Given the description of an element on the screen output the (x, y) to click on. 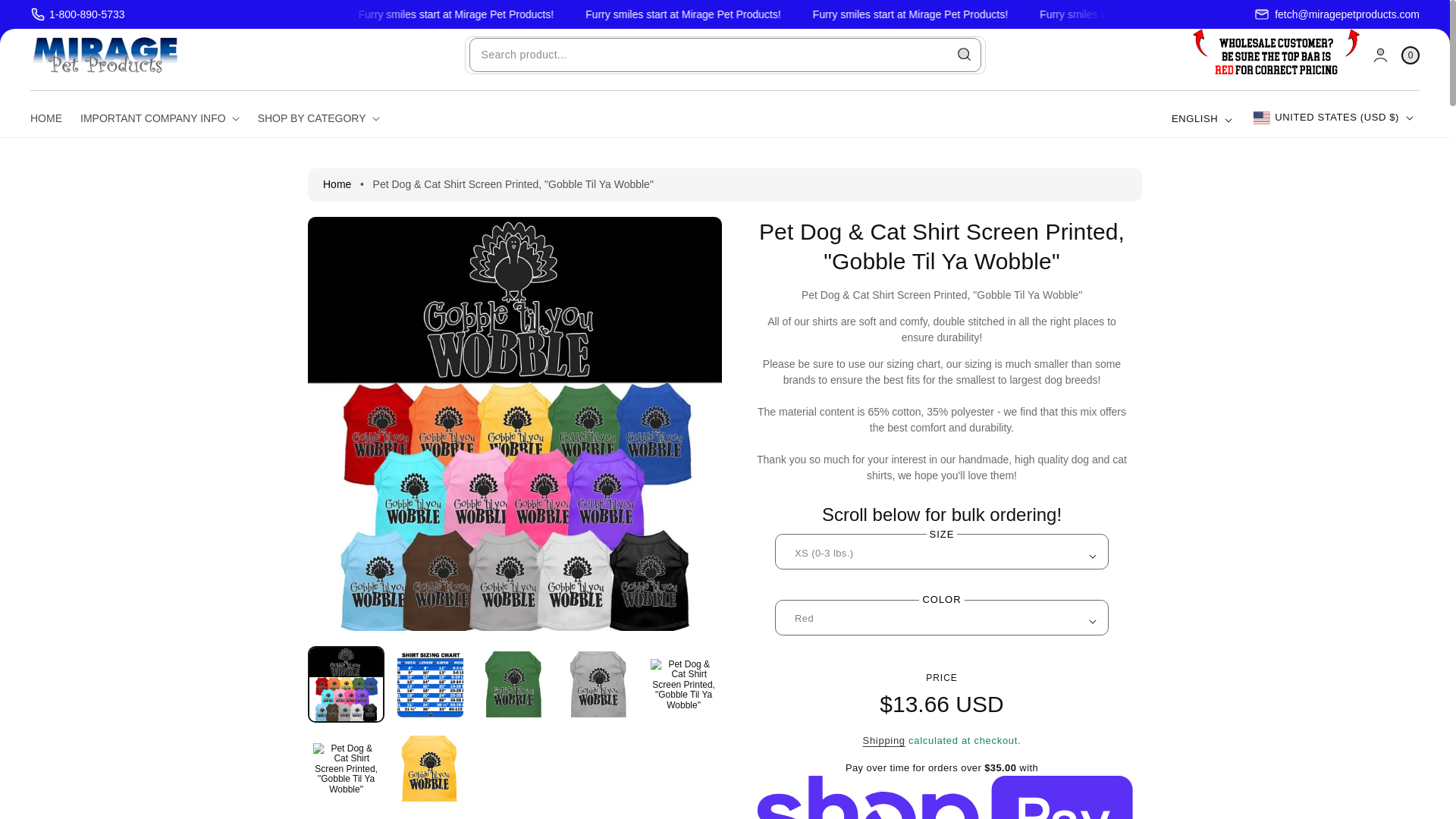
SHOP BY CATEGORY (318, 118)
IMPORTANT COMPANY INFO (159, 118)
1-800-890-5733 (77, 14)
Skip To Content (33, 18)
Home (336, 184)
HOME (50, 118)
